Given the description of an element on the screen output the (x, y) to click on. 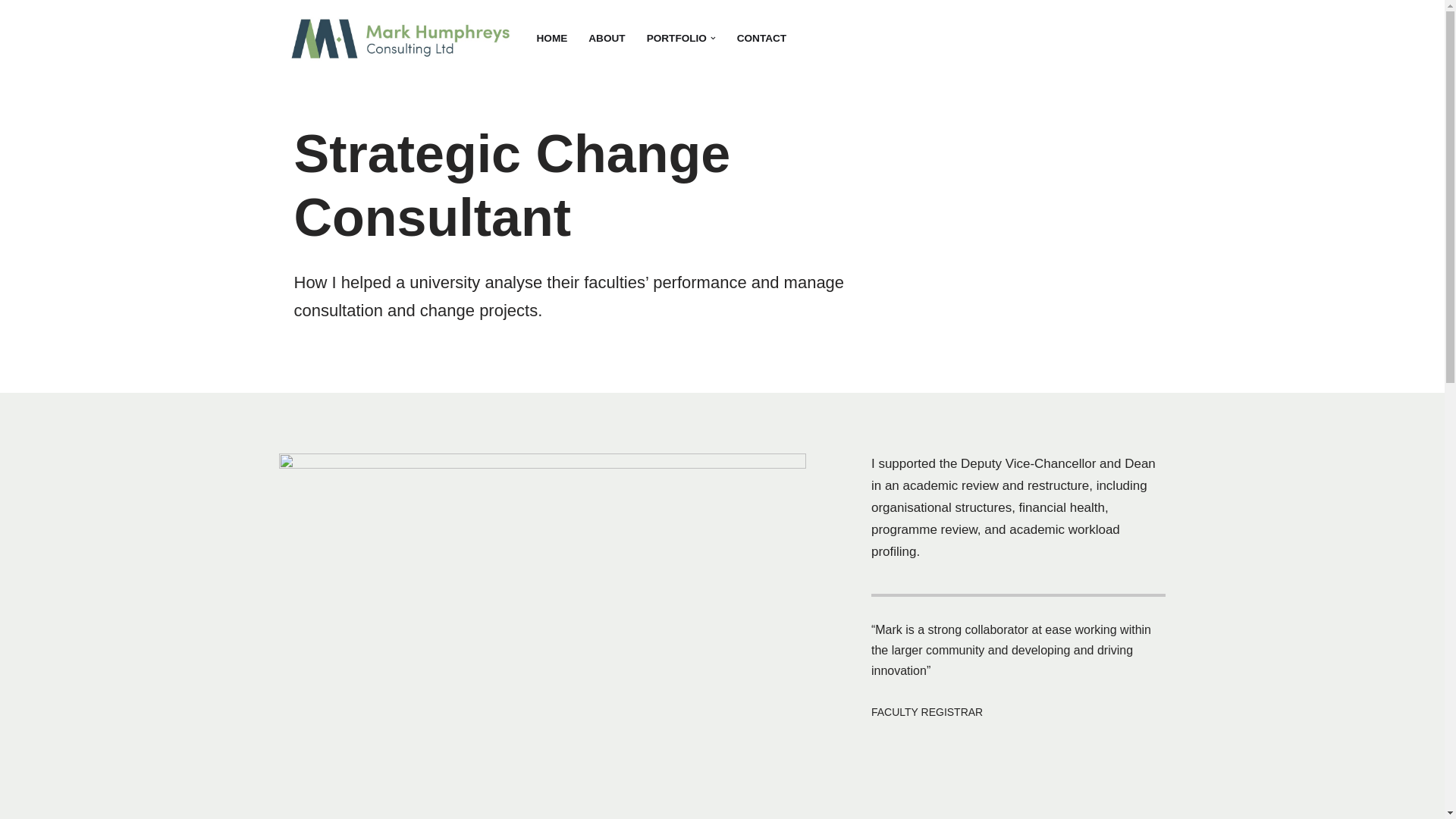
HOME (552, 37)
ABOUT (606, 37)
CONTACT (761, 37)
Skip to content (11, 31)
PORTFOLIO (676, 37)
